Given the description of an element on the screen output the (x, y) to click on. 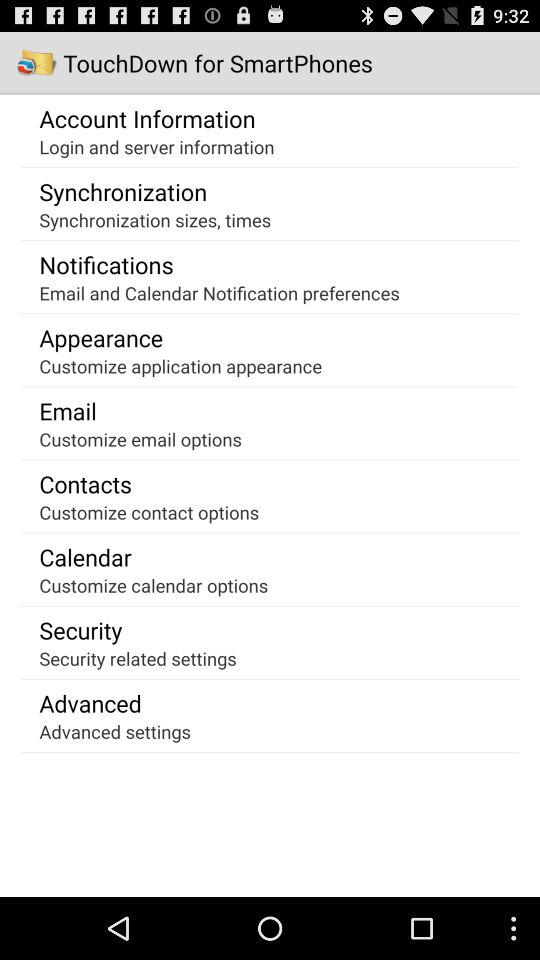
swipe until login and server (156, 146)
